Given the description of an element on the screen output the (x, y) to click on. 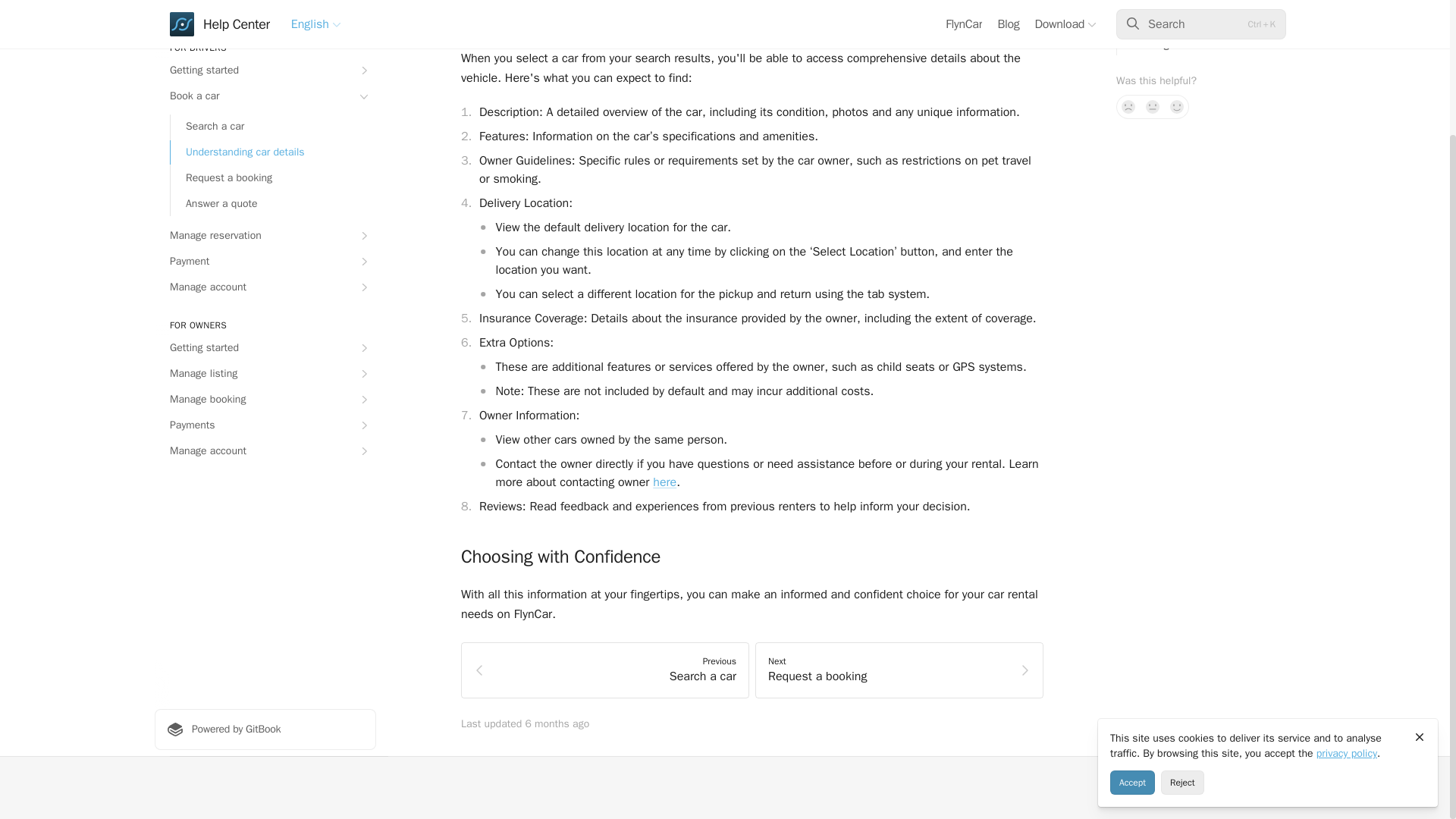
Request a booking (272, 79)
Close (1419, 575)
Search a car (272, 27)
No (1128, 10)
Book a car (264, 4)
Manage account (264, 188)
Yes, it was! (1176, 10)
Answer a quote (272, 105)
Payment (264, 162)
Not sure (1152, 10)
